Given the description of an element on the screen output the (x, y) to click on. 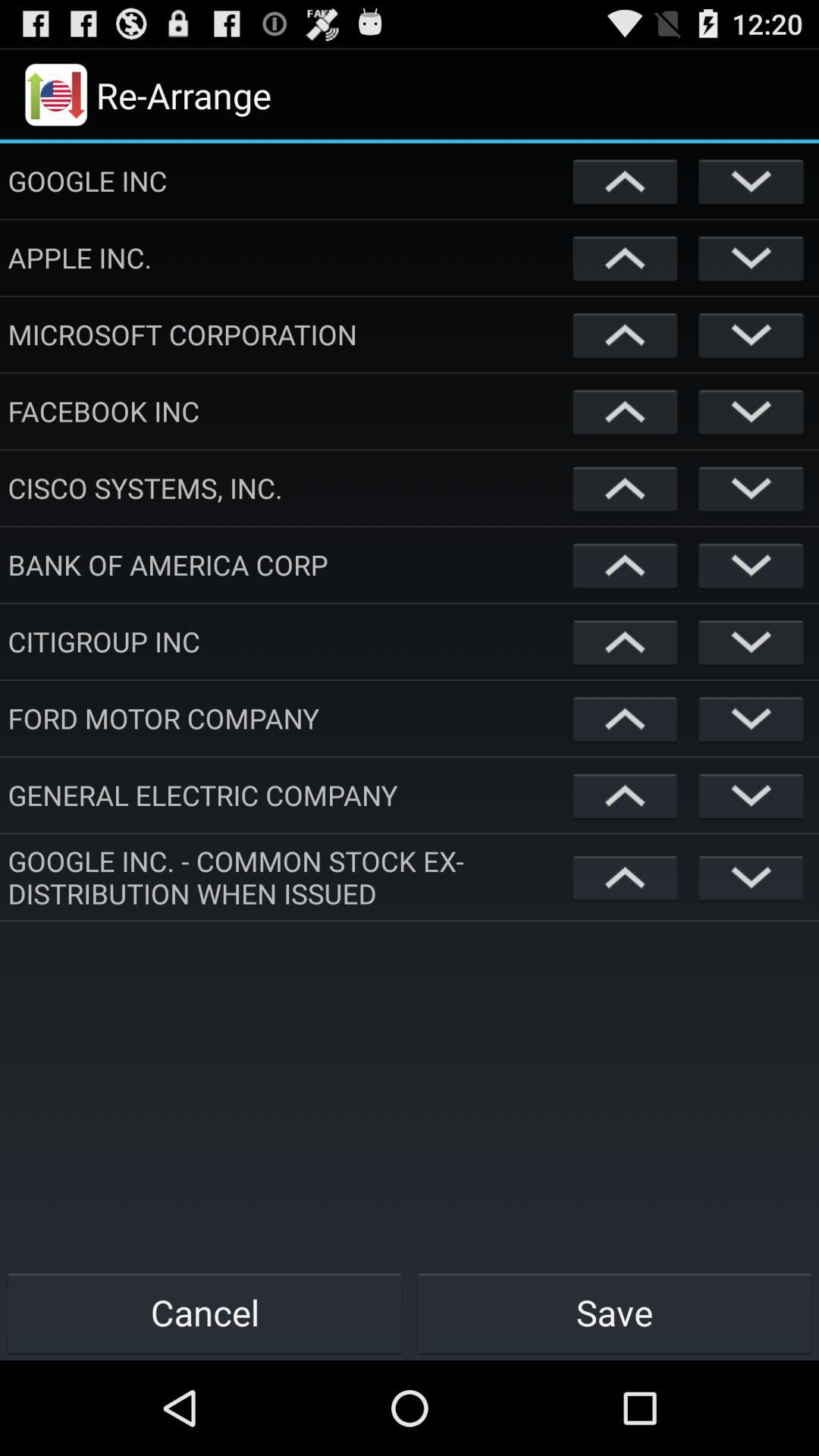
the button allows to move down an item listed (751, 411)
